Given the description of an element on the screen output the (x, y) to click on. 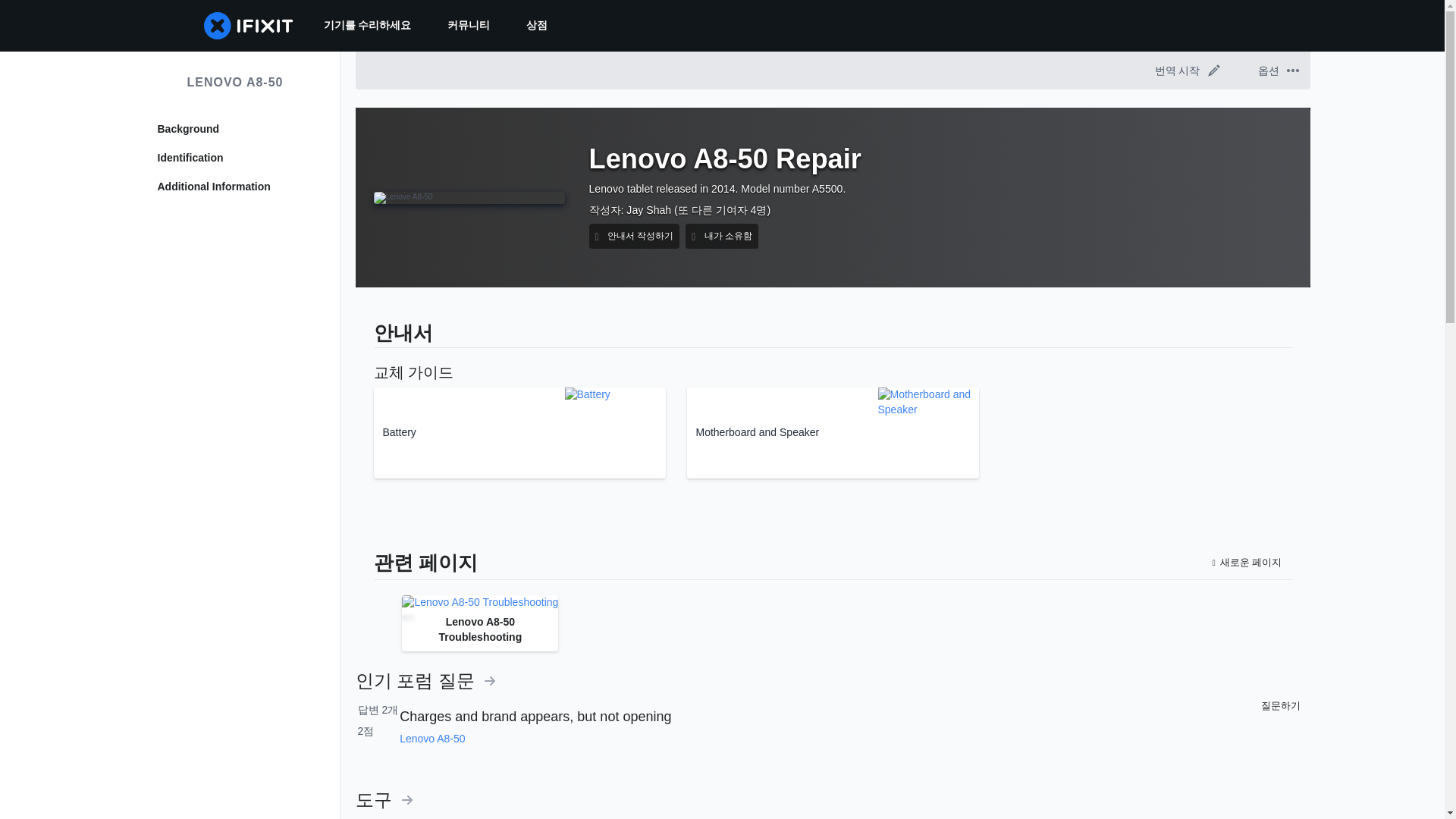
Background (235, 129)
Additional Information (235, 187)
Lenovo A8-50 Troubleshooting (479, 602)
Motherboard and Speaker (832, 432)
Lenovo A8-50 (431, 738)
LENOVO A8-50 (234, 82)
Battery (518, 432)
Jay Shah (648, 209)
Identification (235, 158)
Charges and brand appears, but not opening (534, 716)
